Given the description of an element on the screen output the (x, y) to click on. 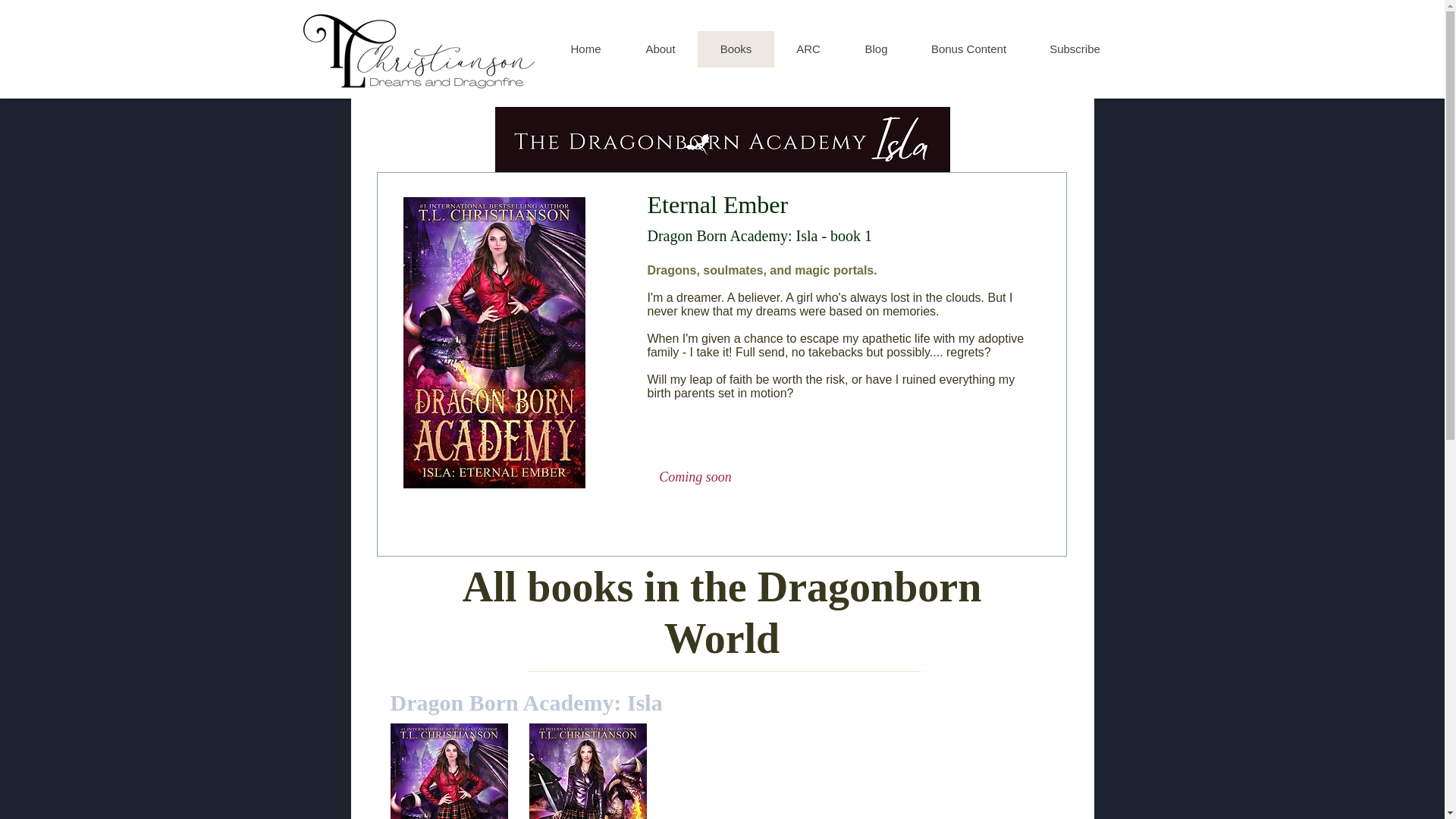
Bonus Content (968, 49)
Subscribe (1073, 49)
Blog (874, 49)
About (660, 49)
ARC (807, 49)
Home (585, 49)
Books (735, 49)
Coming soon (695, 476)
